Given the description of an element on the screen output the (x, y) to click on. 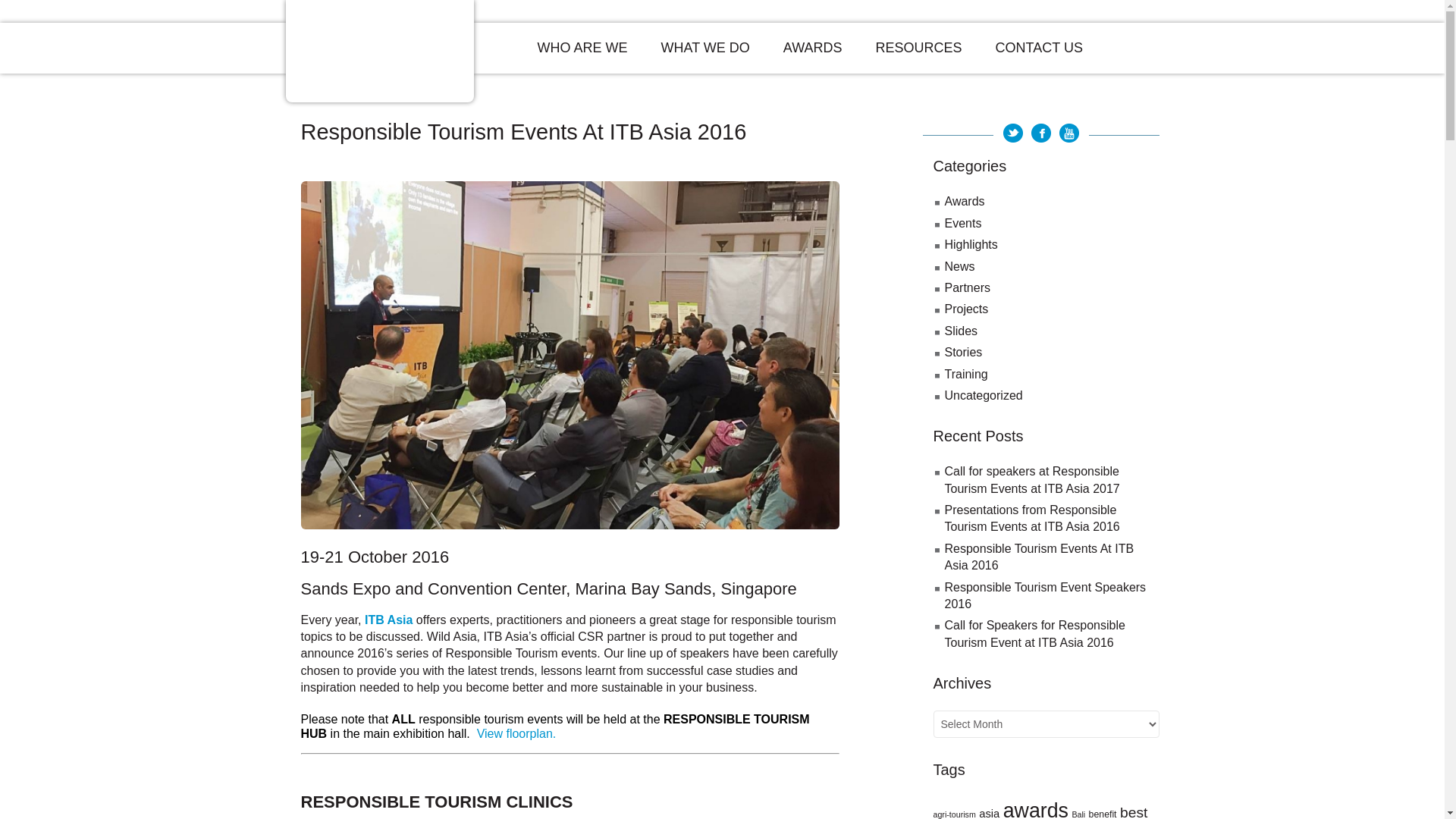
RESOURCES (918, 47)
WHAT WE DO (706, 47)
ITB Asia (388, 619)
Responsible Tourism (378, 50)
WHO ARE WE (581, 47)
AWARDS (813, 47)
View floorplan. (516, 733)
CONTACT US (1038, 47)
